Given the description of an element on the screen output the (x, y) to click on. 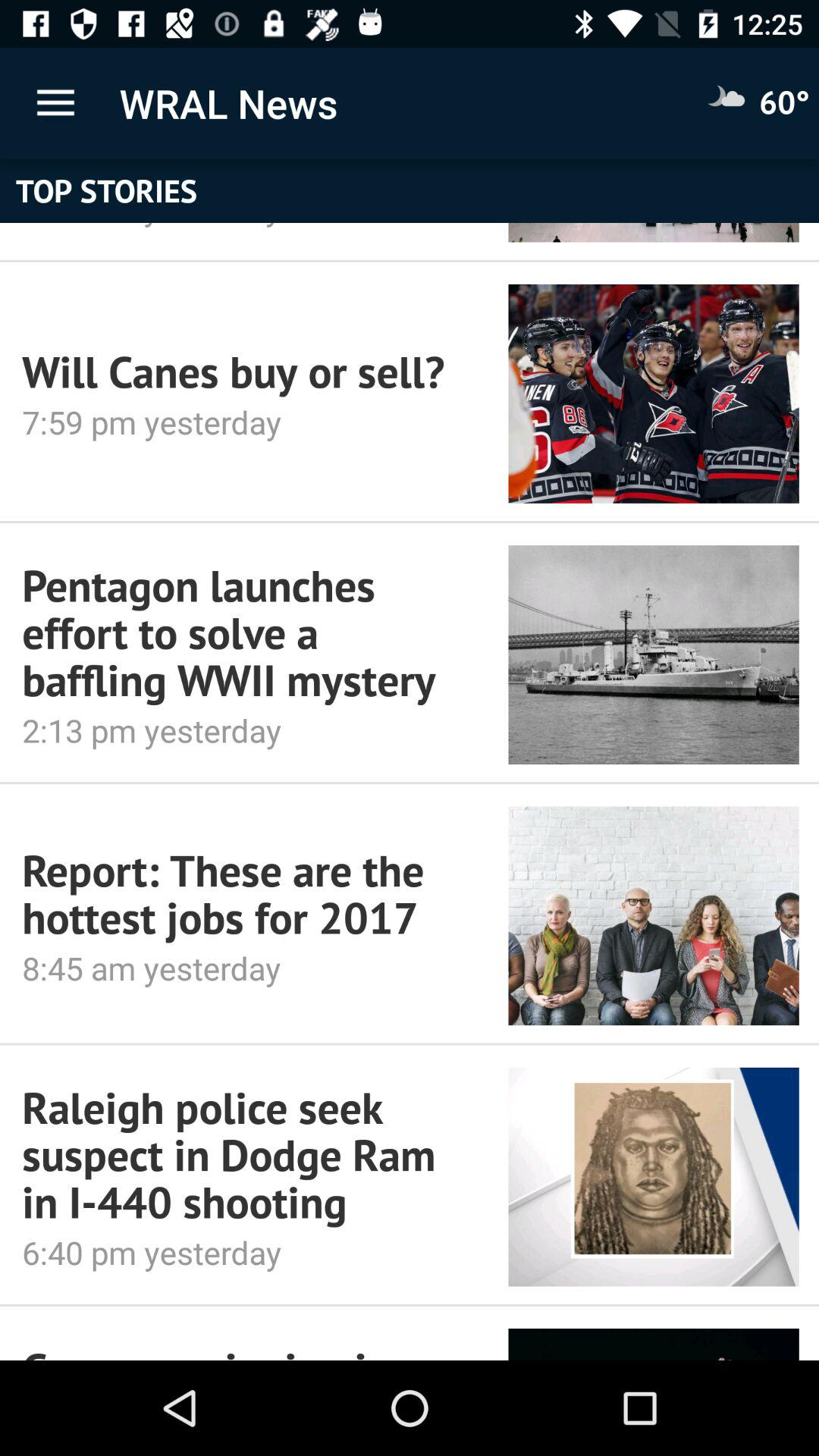
tap icon above top stories icon (55, 103)
